Given the description of an element on the screen output the (x, y) to click on. 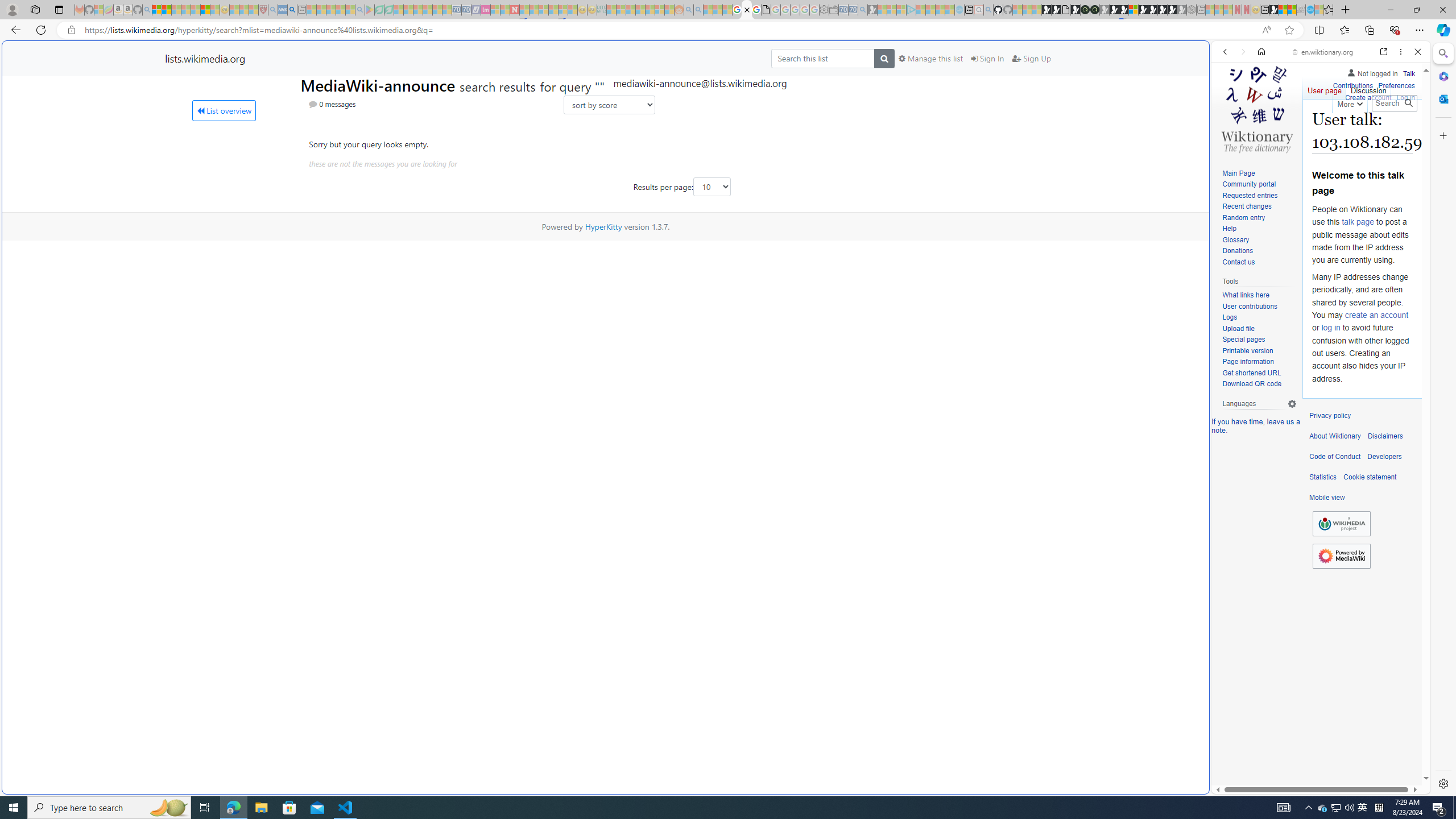
Mobile view (1326, 497)
User contributions (1259, 306)
Play Cave FRVR in your browser | Games from Microsoft Start (1114, 9)
AutomationID: sort-search (609, 104)
Main Page (1238, 172)
Preferences (1403, 129)
